Given the description of an element on the screen output the (x, y) to click on. 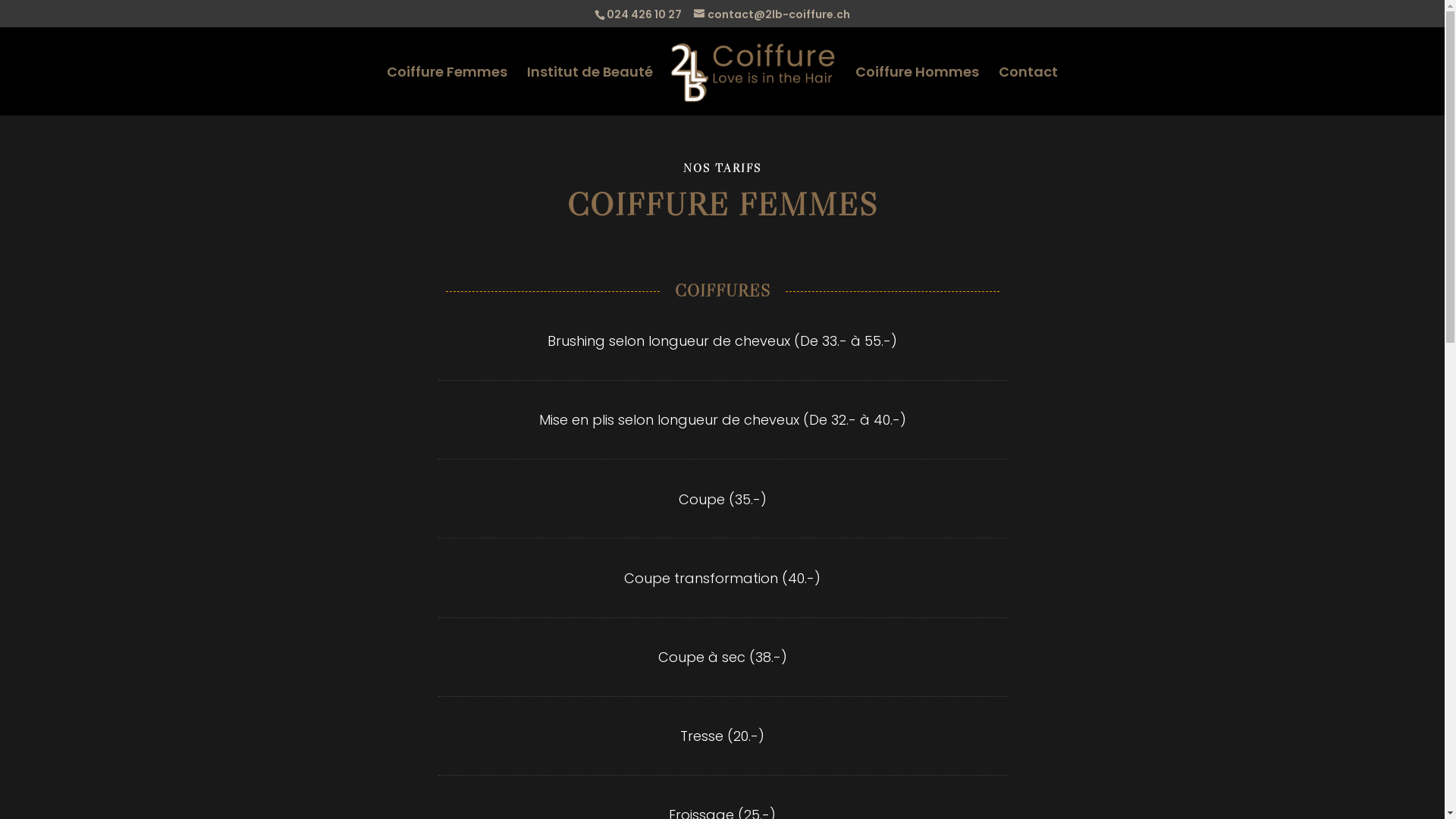
Coiffure Hommes Element type: text (917, 90)
Coiffure Femmes Element type: text (446, 90)
Contact Element type: text (1027, 90)
024 426 10 27 Element type: text (643, 13)
contact@2lb-coiffure.ch Element type: text (771, 13)
